Given the description of an element on the screen output the (x, y) to click on. 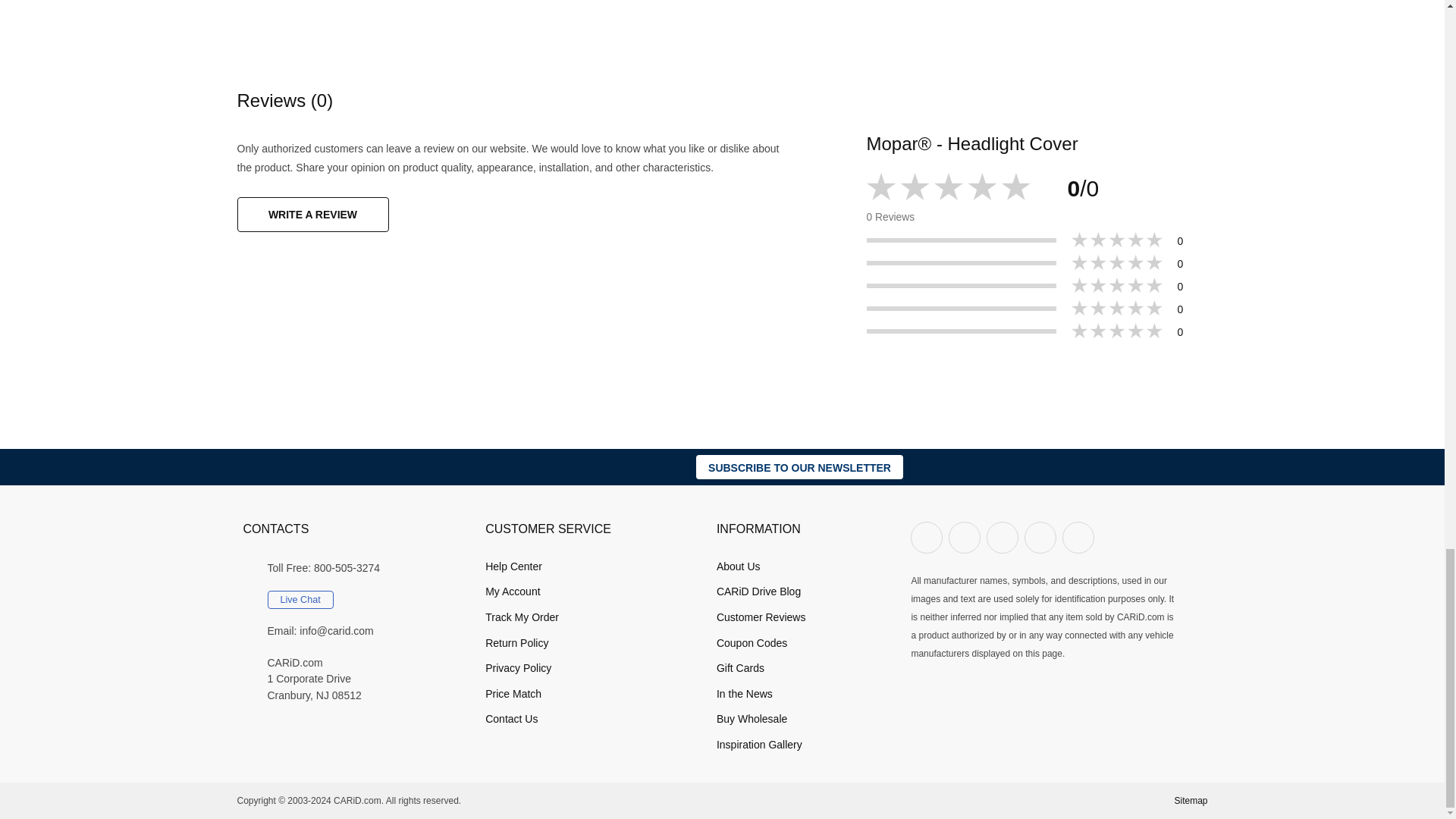
WRITE A REVIEW (311, 214)
Sitemap (1190, 800)
SUBSCRIBE TO OUR NEWSLETTER (798, 467)
800-505-3274 (347, 568)
